Given the description of an element on the screen output the (x, y) to click on. 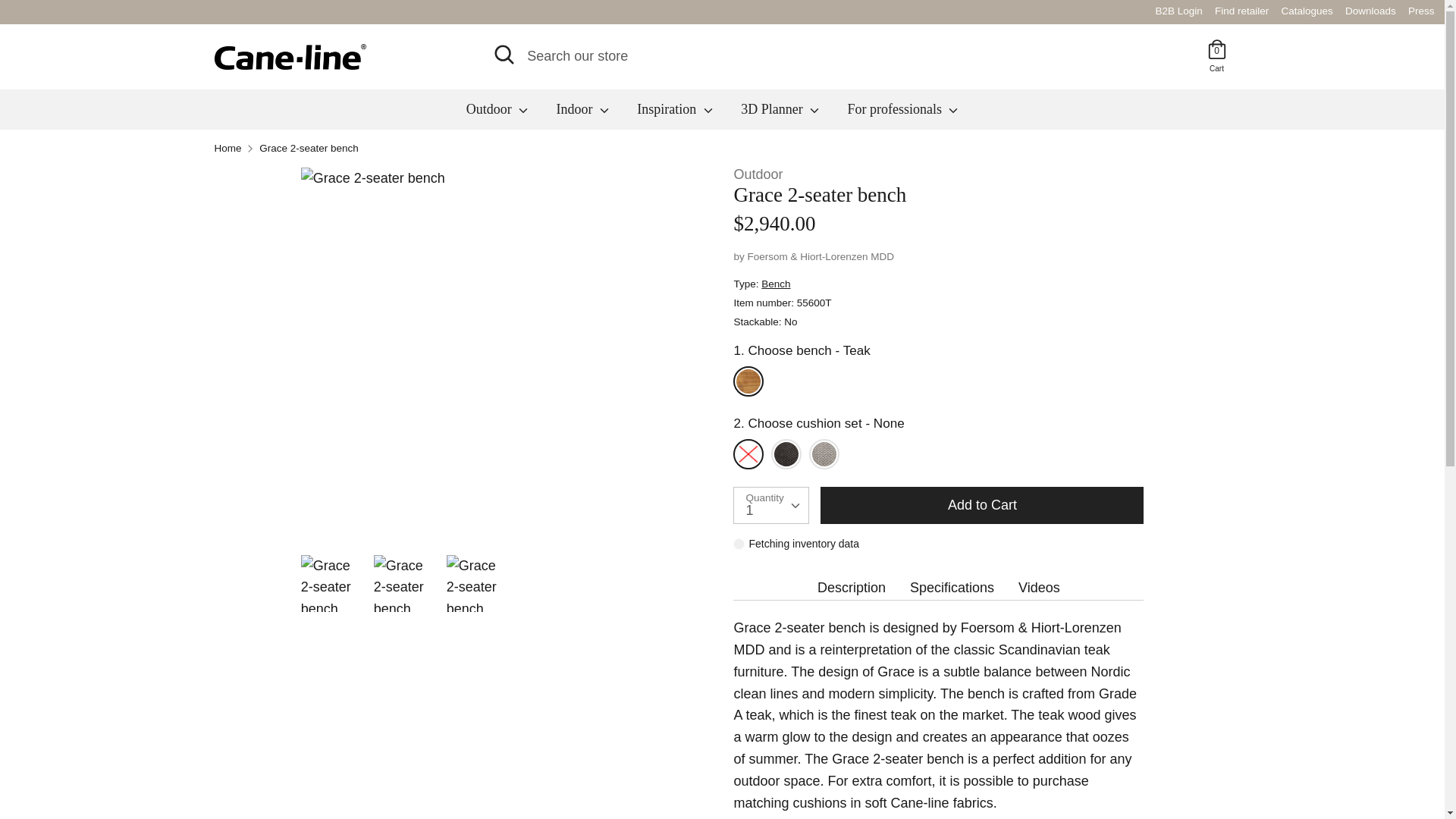
Press (1421, 11)
Downloads (1370, 11)
Catalogues (1307, 11)
B2B Login (1216, 66)
Find retailer (1178, 11)
